Given the description of an element on the screen output the (x, y) to click on. 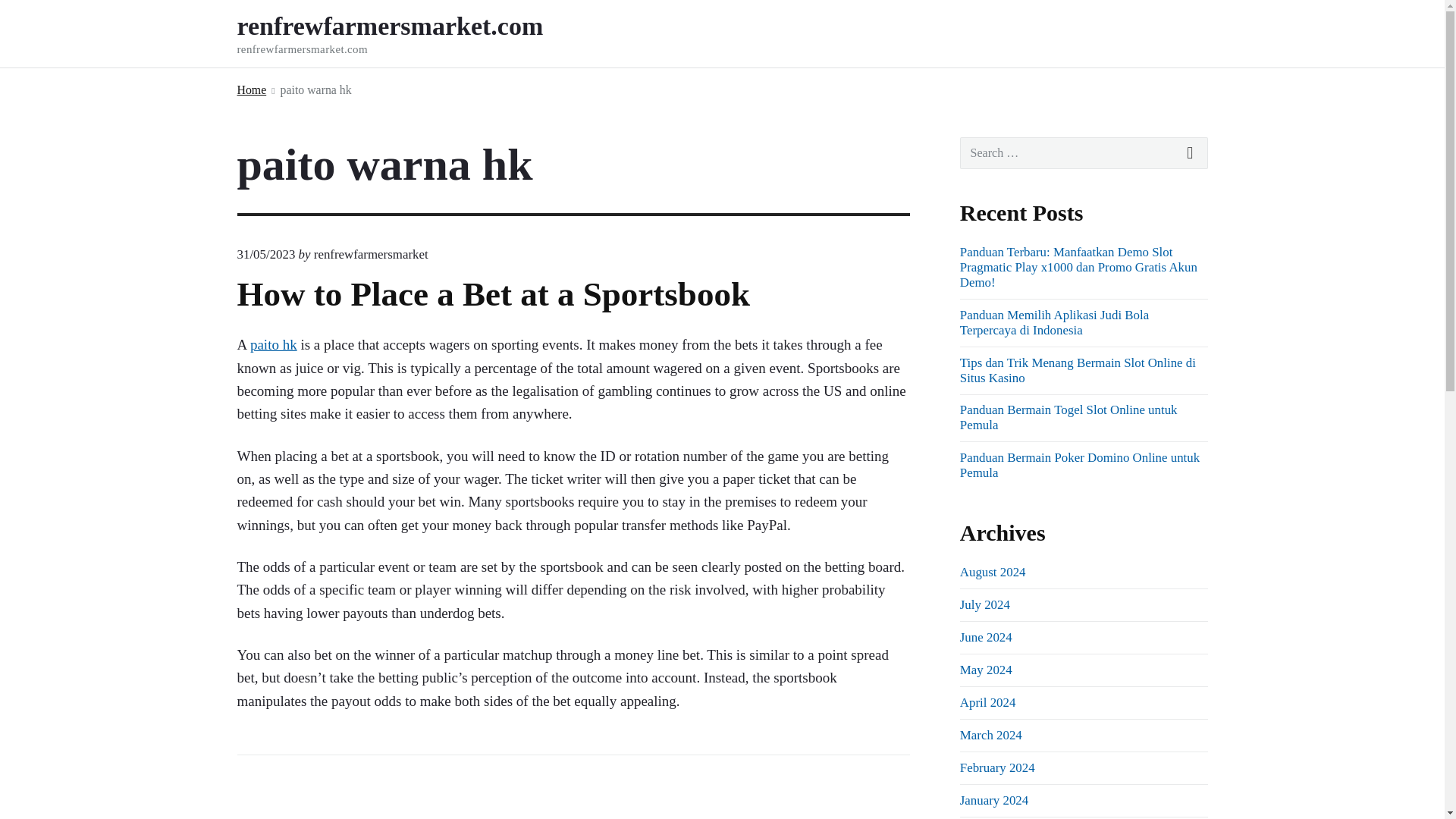
Wednesday, May 31, 2023, 12:02 am (265, 254)
Panduan Bermain Togel Slot Online untuk Pemula (1068, 417)
Panduan Memilih Aplikasi Judi Bola Terpercaya di Indonesia (1053, 322)
March 2024 (990, 735)
SEARCH (1190, 152)
June 2024 (985, 636)
Tips dan Trik Menang Bermain Slot Online di Situs Kasino (1077, 369)
Posts by renfrewfarmersmarket (371, 254)
renfrewfarmersmarket (371, 254)
paito hk (273, 344)
July 2024 (984, 604)
April 2024 (987, 702)
Home (250, 89)
August 2024 (992, 572)
